Given the description of an element on the screen output the (x, y) to click on. 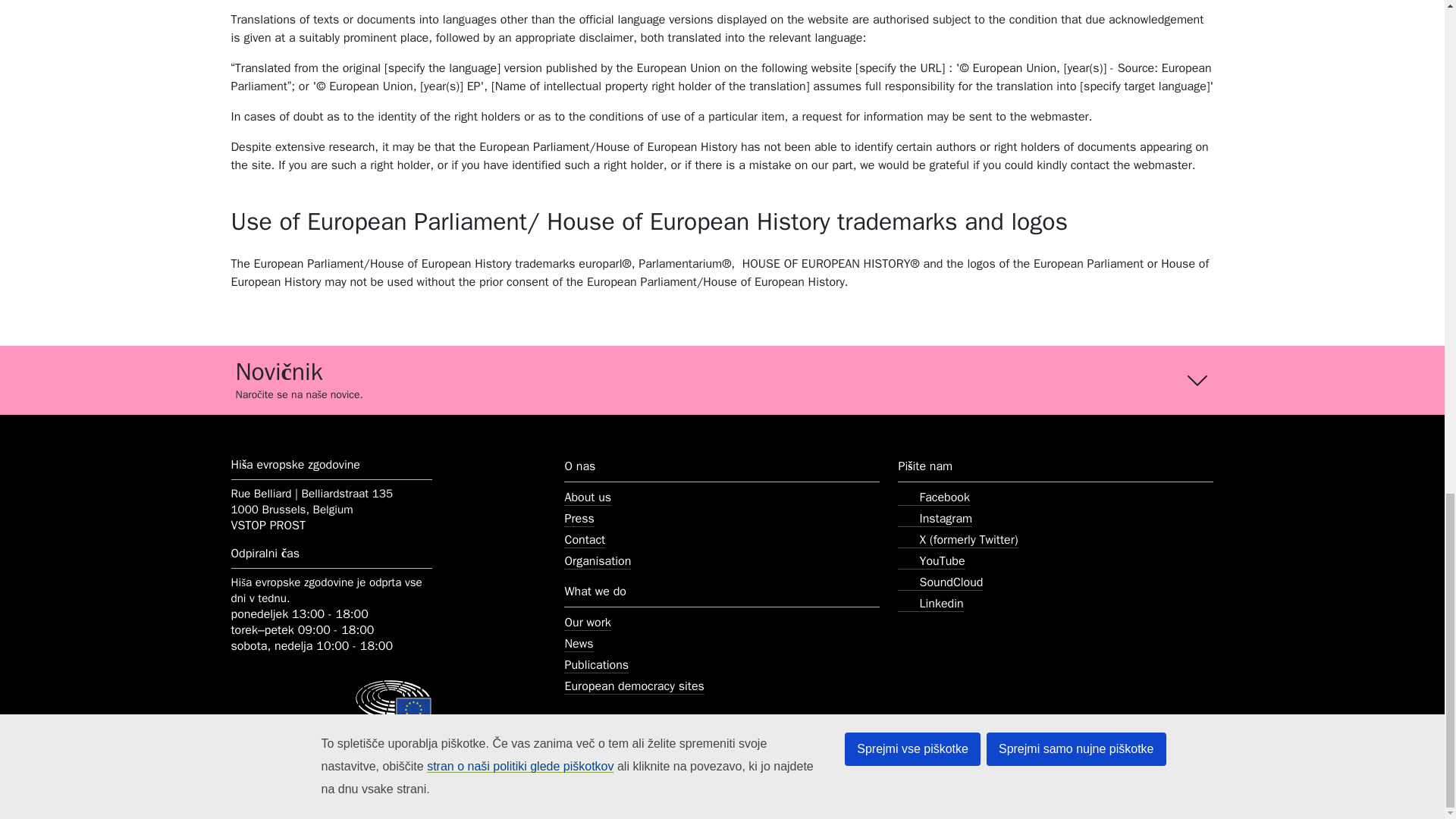
About us (587, 497)
Organisation (597, 561)
Contact (584, 539)
Press (579, 519)
